Given the description of an element on the screen output the (x, y) to click on. 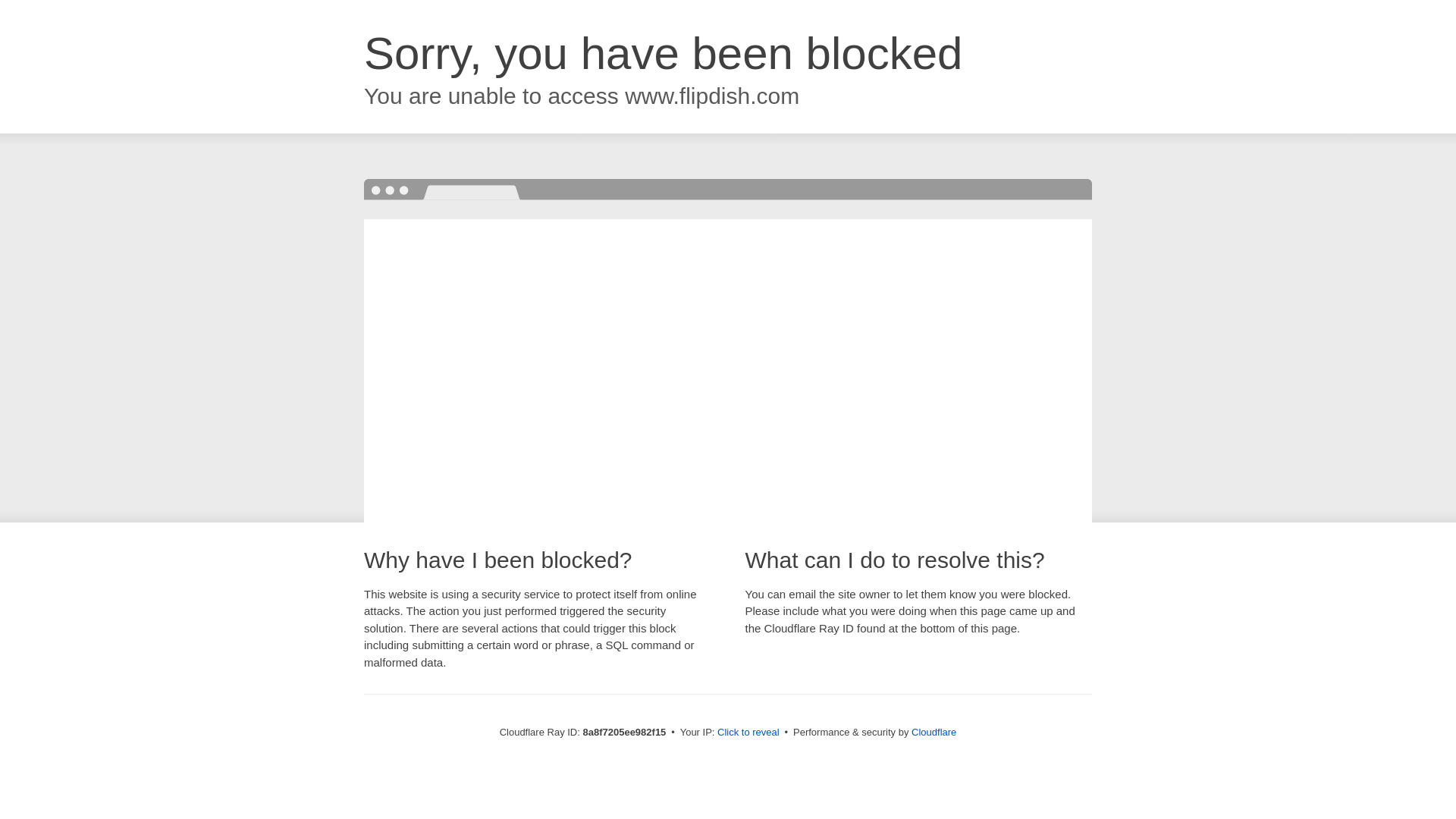
Cloudflare (933, 731)
Click to reveal (747, 732)
